Given the description of an element on the screen output the (x, y) to click on. 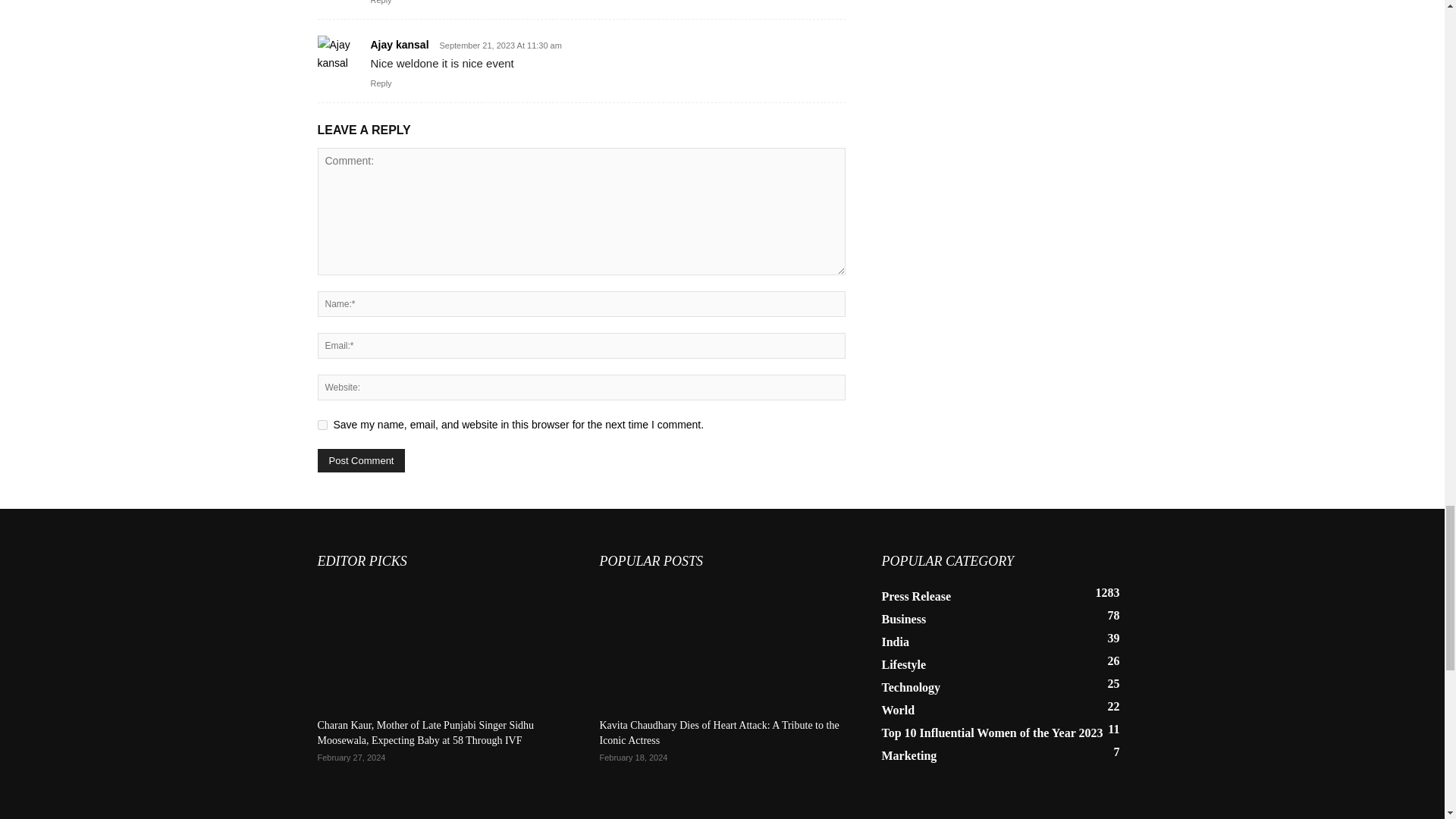
yes (321, 424)
Post Comment (360, 460)
